Given the description of an element on the screen output the (x, y) to click on. 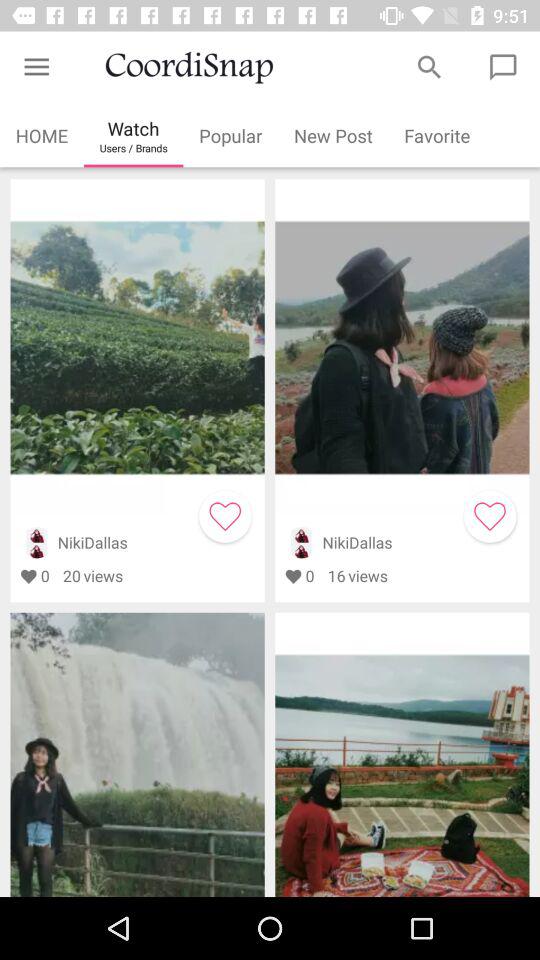
choose the item above home (36, 67)
